Given the description of an element on the screen output the (x, y) to click on. 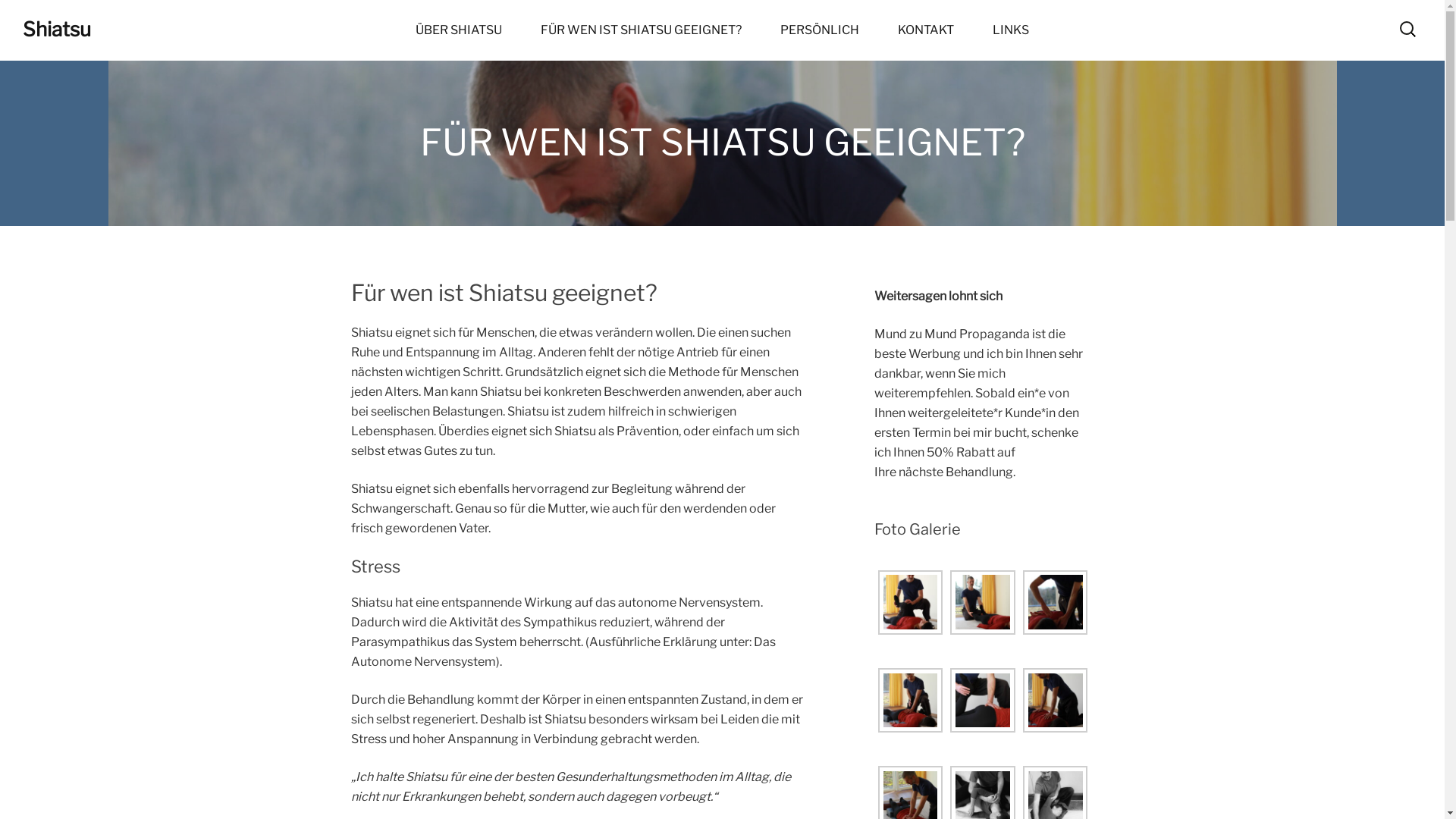
KONTAKT Element type: text (925, 30)
Shiatsu Element type: text (56, 28)
LINKS Element type: text (1010, 30)
Search Element type: text (0, 0)
